Given the description of an element on the screen output the (x, y) to click on. 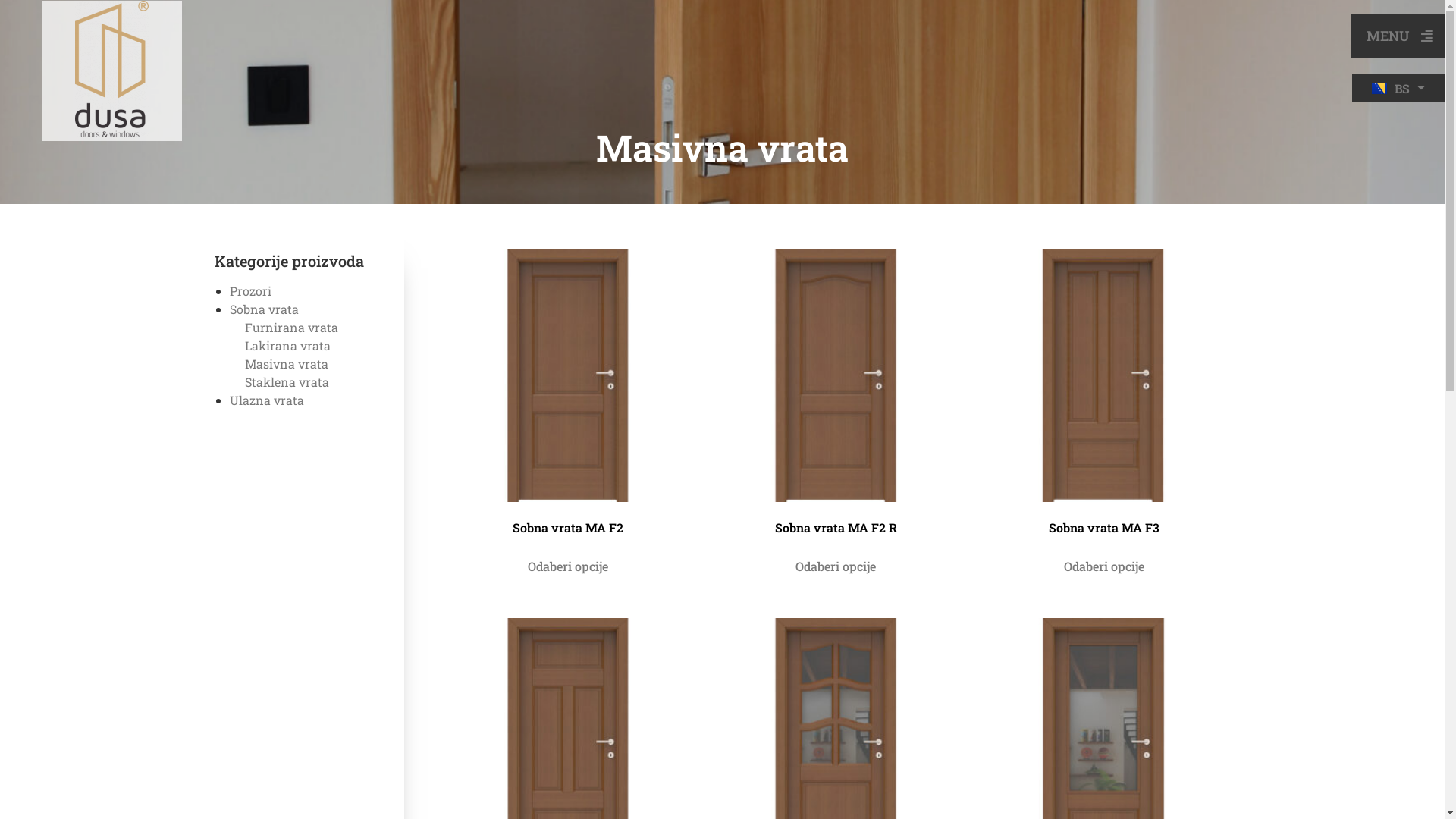
Sobna vrata MA F3 Element type: text (1103, 395)
Sobna vrata MA F2 R Element type: text (835, 395)
Masivna vrata Element type: text (285, 363)
Staklena vrata Element type: text (286, 381)
Furnirana vrata Element type: text (290, 327)
Prozori Element type: text (249, 290)
Sobna vrata MA F2 Element type: text (567, 395)
Ulazna vrata Element type: text (266, 399)
MENU Element type: text (1397, 35)
Odaberi opcije Element type: text (835, 566)
Odaberi opcije Element type: text (567, 566)
Sobna vrata Element type: text (263, 308)
Odaberi opcije Element type: text (1103, 566)
BS Element type: text (1398, 87)
Lakirana vrata Element type: text (286, 345)
